Given the description of an element on the screen output the (x, y) to click on. 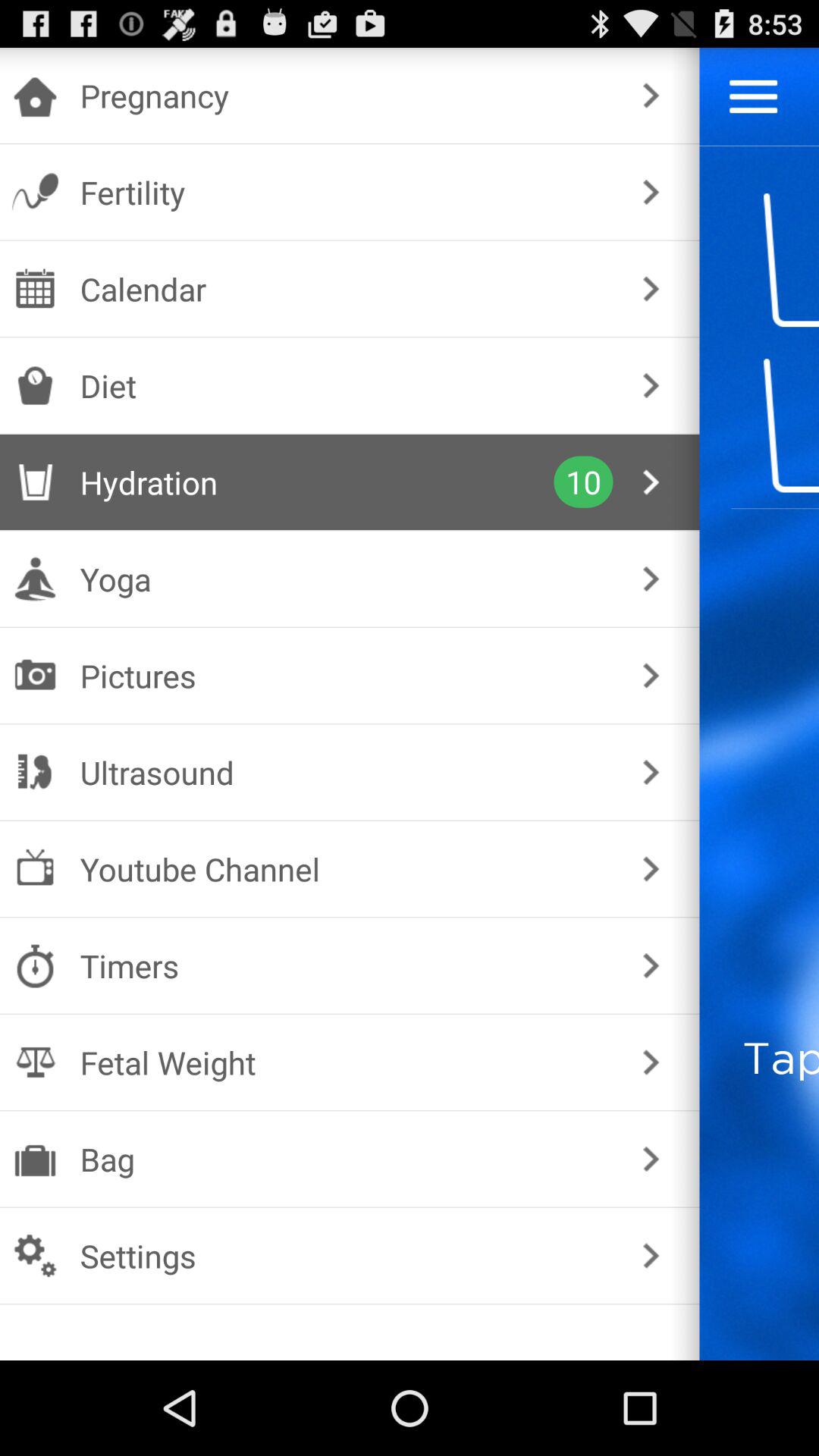
tap icon above 10 icon (346, 385)
